Given the description of an element on the screen output the (x, y) to click on. 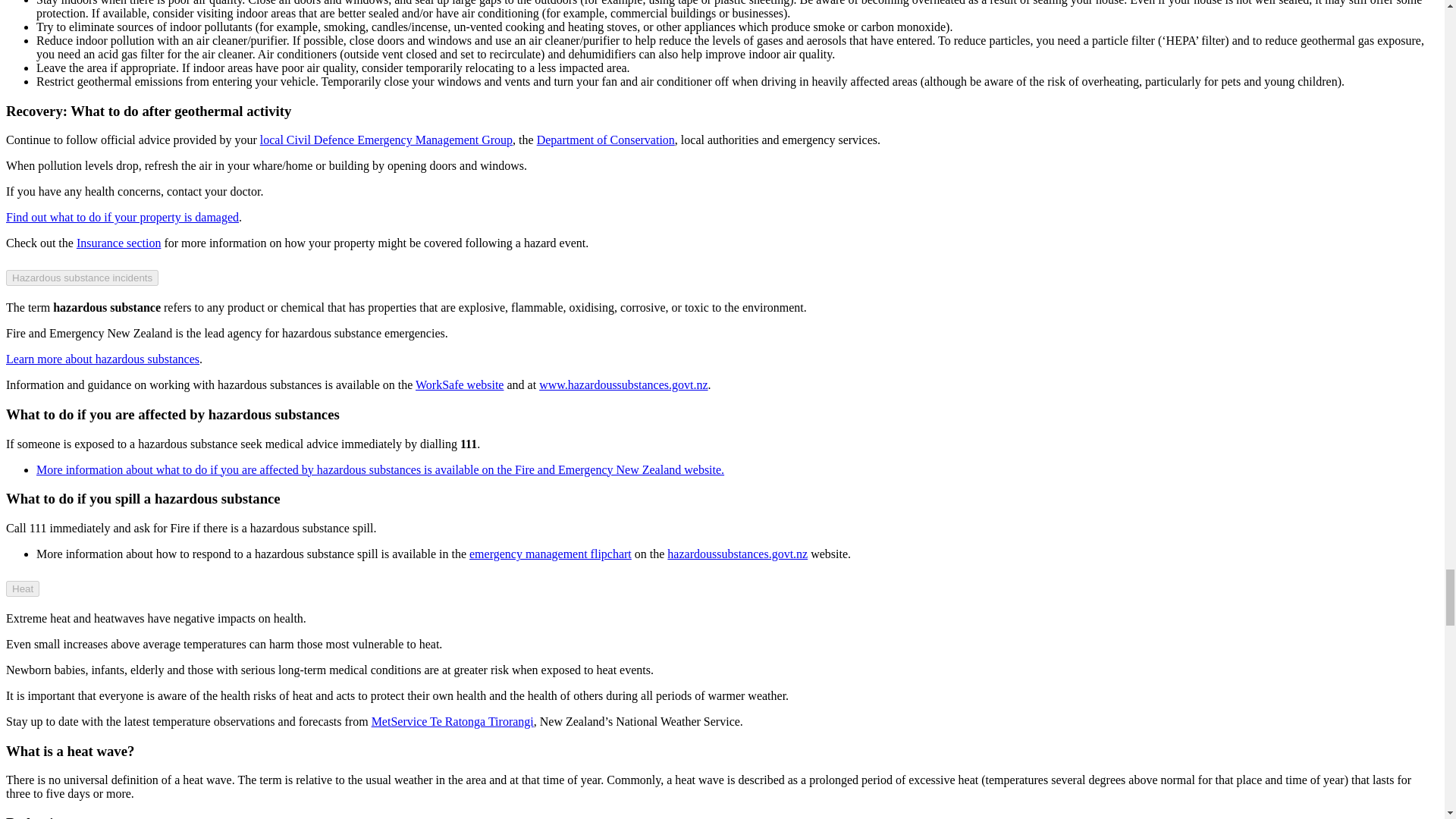
Find your local Civil Defence Emergency Management Group (386, 139)
Visit the Department of Conservation website (606, 139)
Consistent messages on insurance (119, 242)
